Given the description of an element on the screen output the (x, y) to click on. 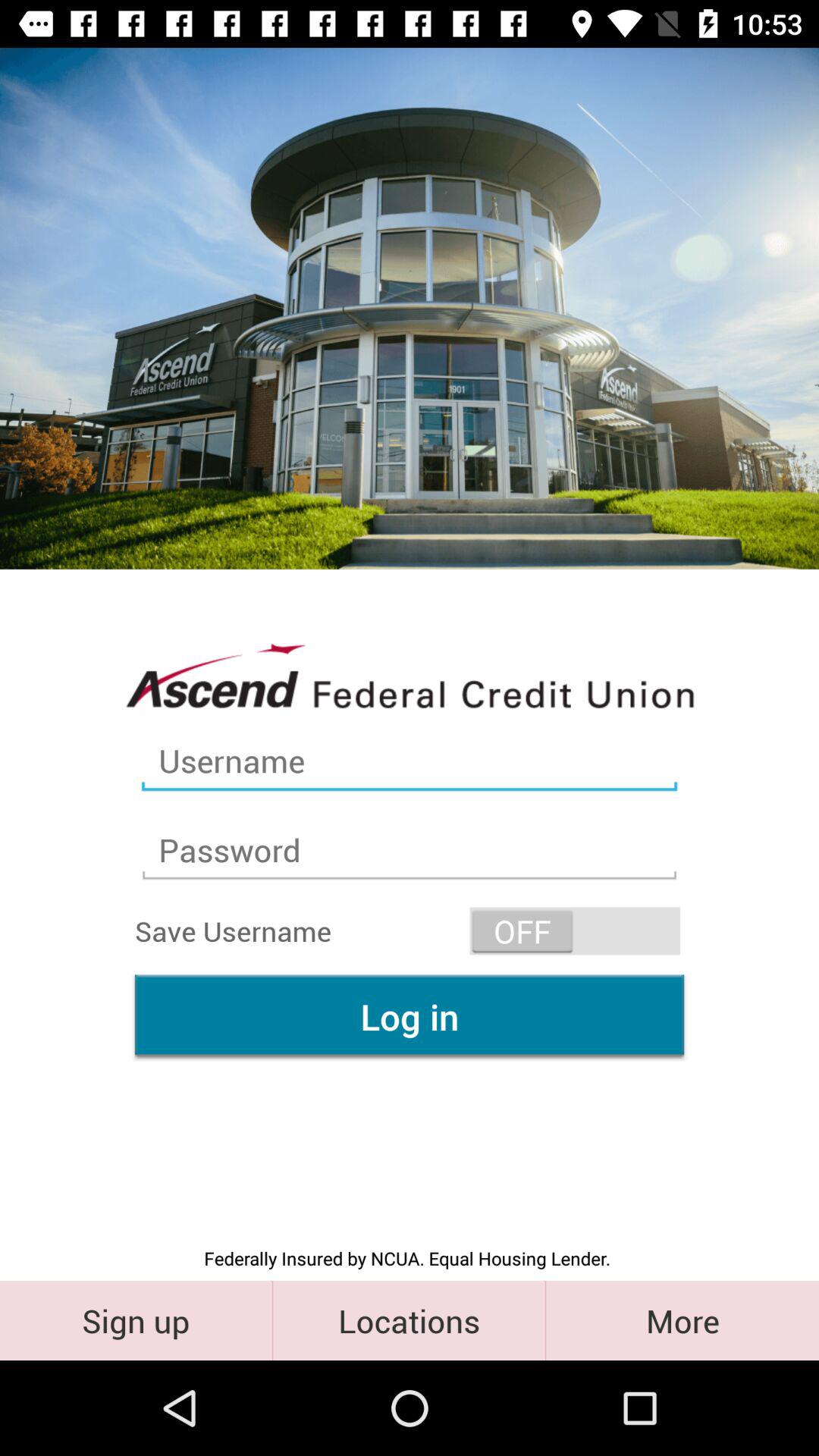
open locations item (409, 1320)
